Given the description of an element on the screen output the (x, y) to click on. 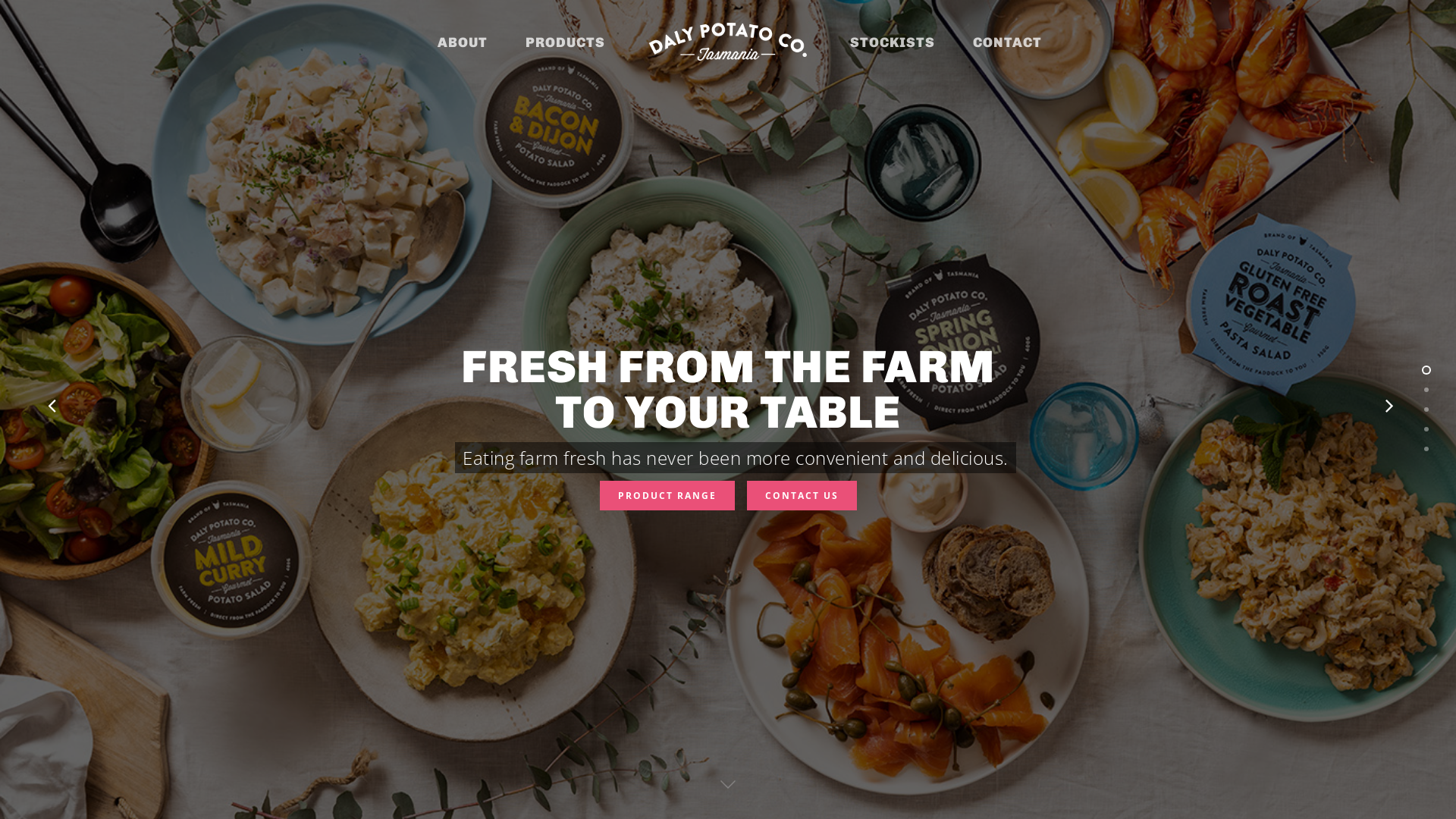
STOCKISTS Element type: text (892, 41)
PRODUCTS Element type: text (565, 41)
CONTACT US Element type: text (801, 495)
ABOUT Element type: text (462, 41)
CONTACT Element type: text (1006, 41)
PRODUCT RANGE Element type: text (666, 495)
